Given the description of an element on the screen output the (x, y) to click on. 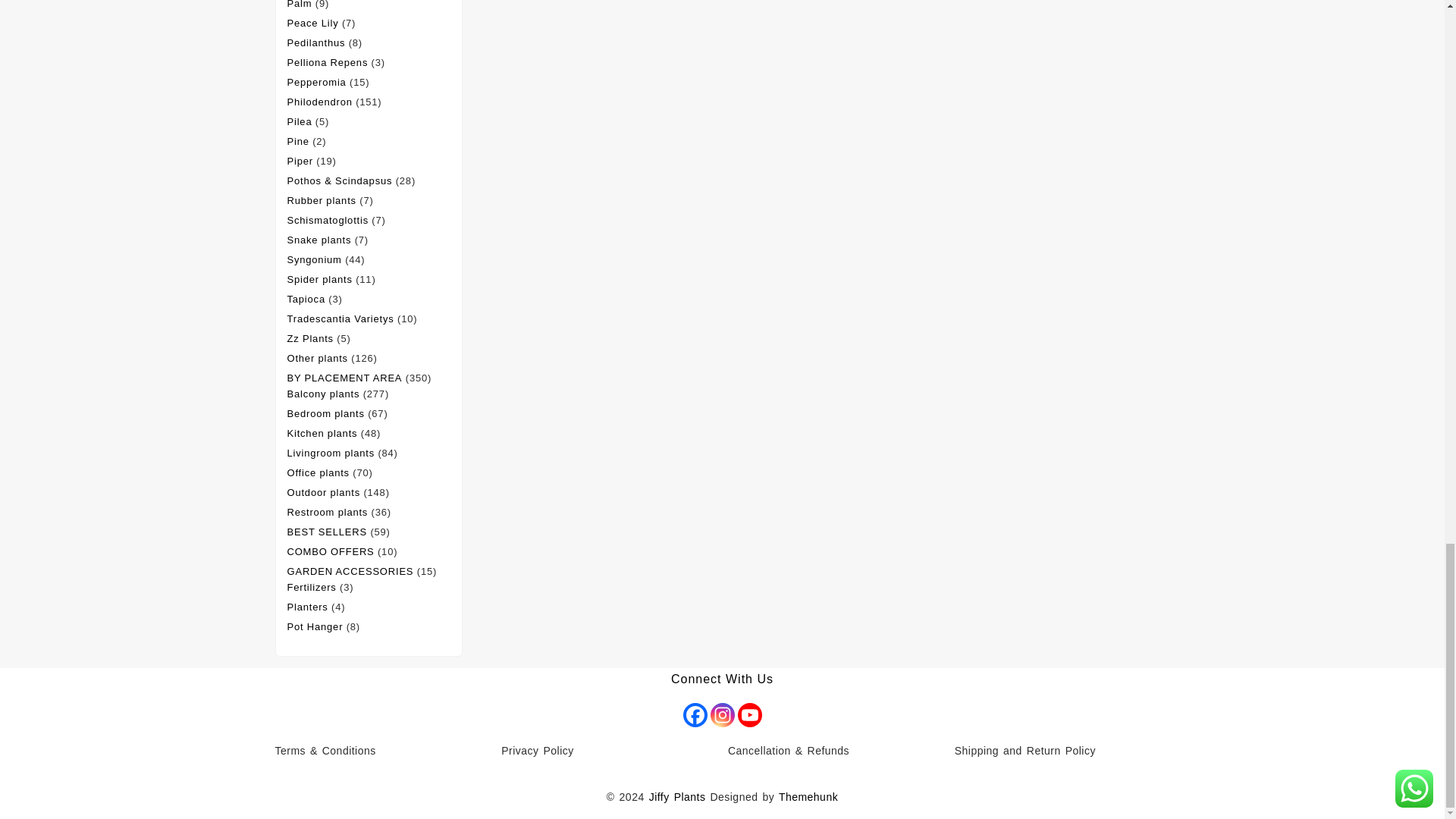
Instagram (721, 714)
Youtube Channel (748, 714)
Facebook (694, 714)
